Given the description of an element on the screen output the (x, y) to click on. 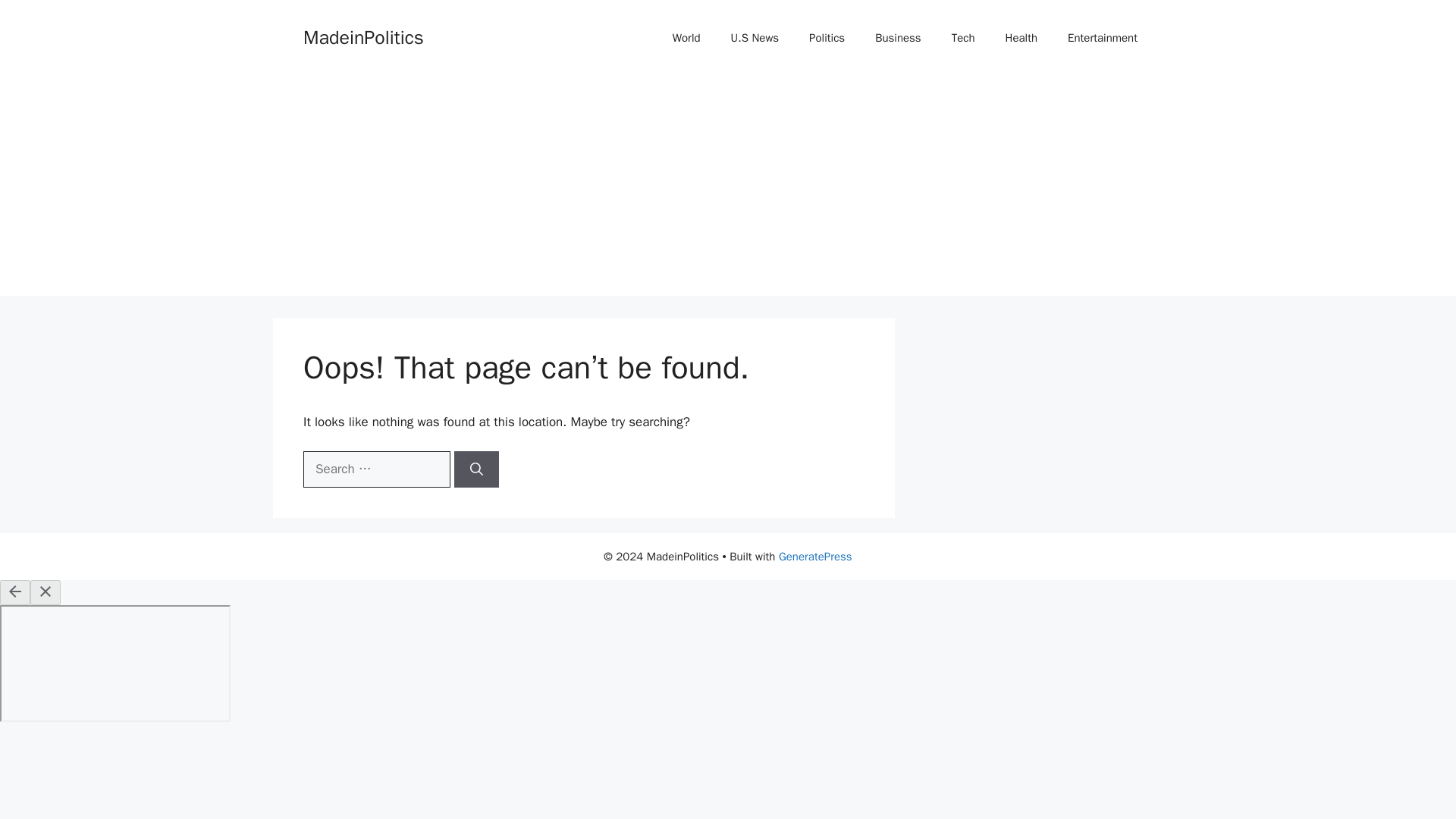
GeneratePress (814, 556)
Entertainment (1102, 37)
MadeinPolitics (362, 37)
U.S News (755, 37)
World (687, 37)
Tech (963, 37)
Search for: (375, 469)
Politics (826, 37)
Business (898, 37)
Health (1021, 37)
